Given the description of an element on the screen output the (x, y) to click on. 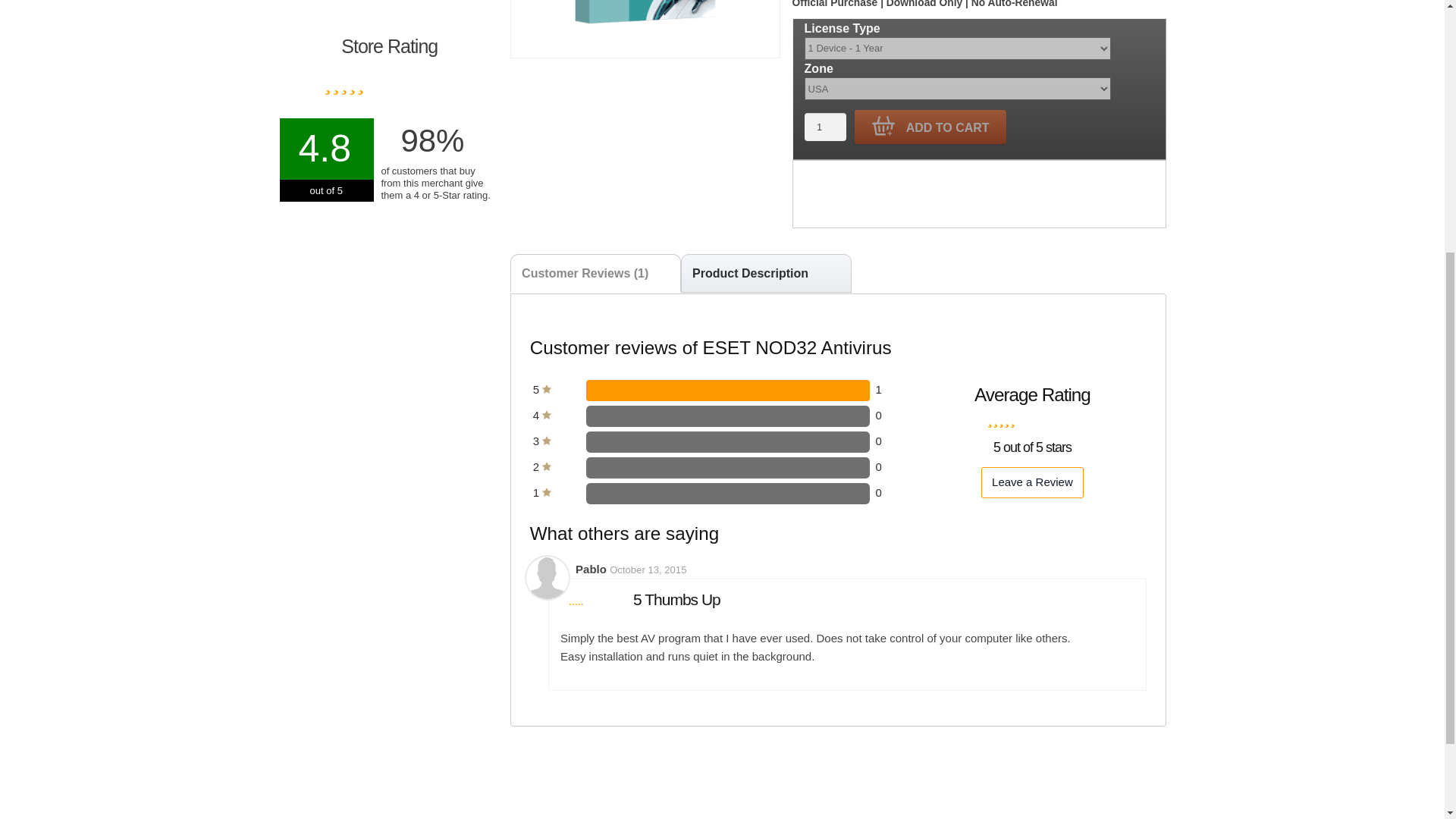
1 (825, 126)
Product Description (766, 272)
5 (541, 389)
4 (541, 414)
ADD TO CART (930, 126)
2 (541, 466)
1 (541, 492)
3 (541, 440)
